Given the description of an element on the screen output the (x, y) to click on. 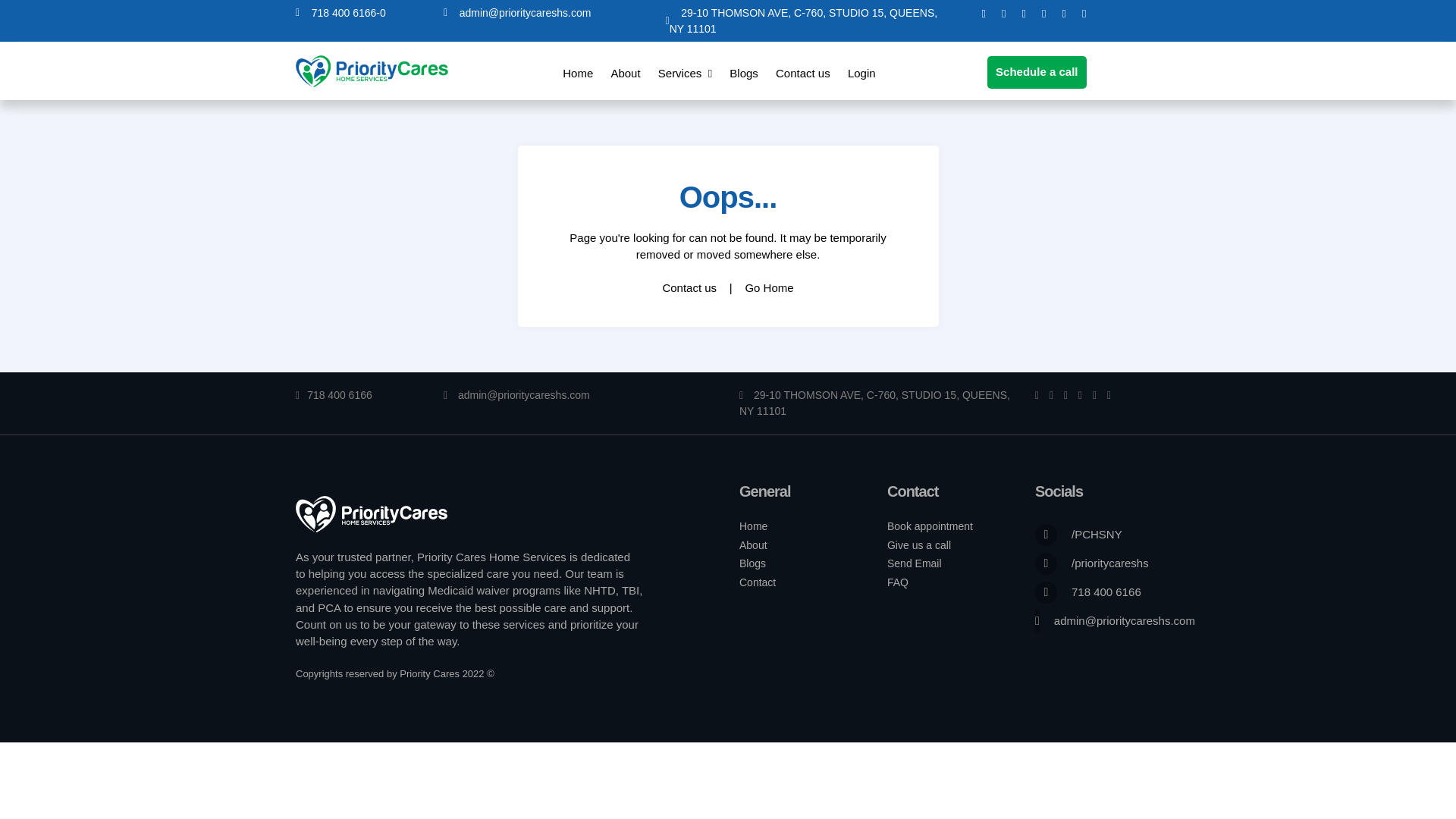
Services  (684, 72)
FAQ (897, 582)
Home (577, 72)
Contact (757, 582)
Give us a call (918, 545)
Login (861, 72)
About (625, 72)
About (753, 545)
    29-10 THOMSON AVE, C-760, STUDIO 15, QUEENS, NY 11101 (802, 20)
Blogs (752, 563)
Schedule a call (1036, 71)
Book appointment (929, 526)
718 400 6166 (333, 395)
Send Email (914, 563)
Go Home (768, 288)
